Given the description of an element on the screen output the (x, y) to click on. 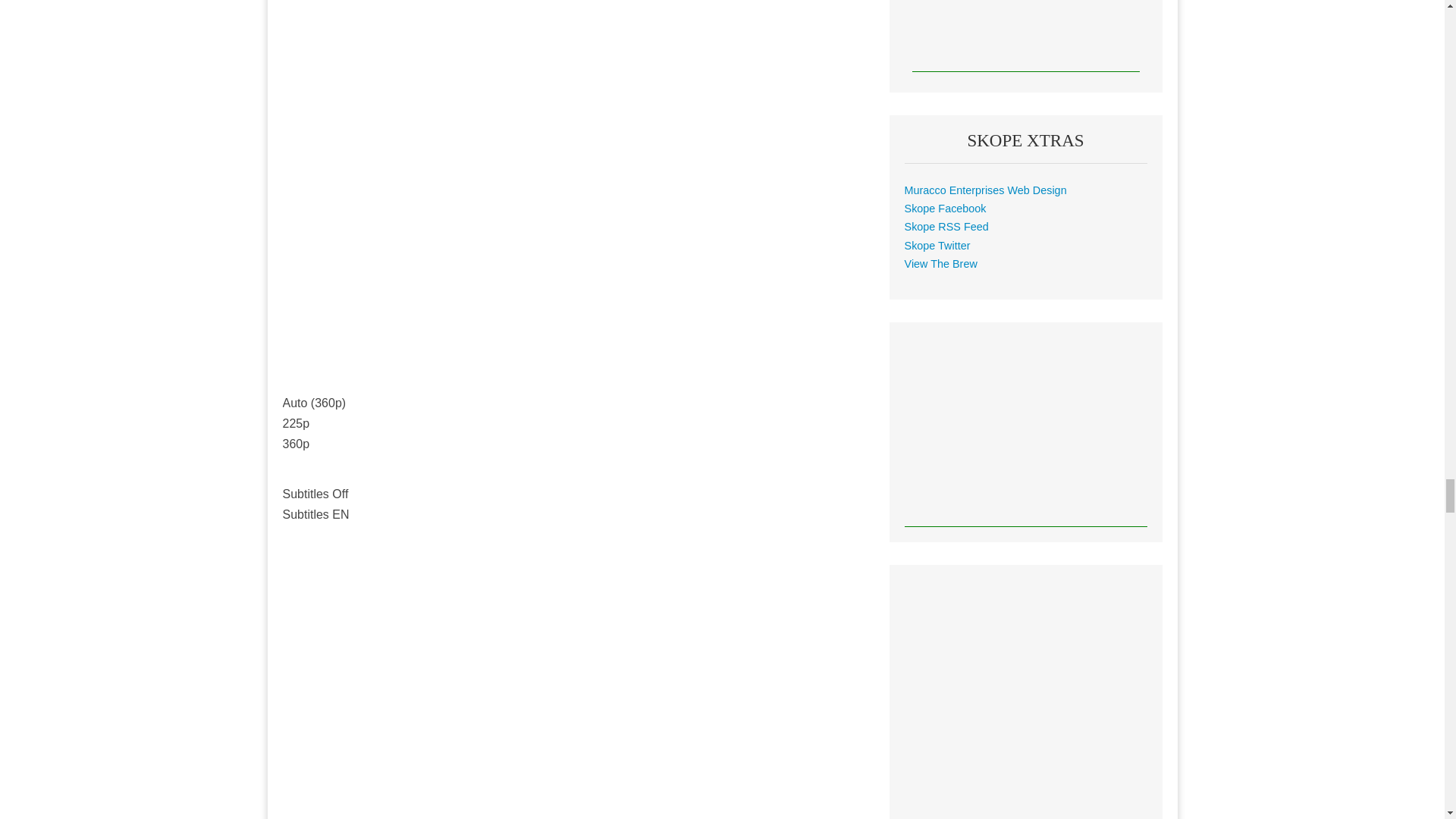
Skopemag.com RSS Feed (946, 226)
